Given the description of an element on the screen output the (x, y) to click on. 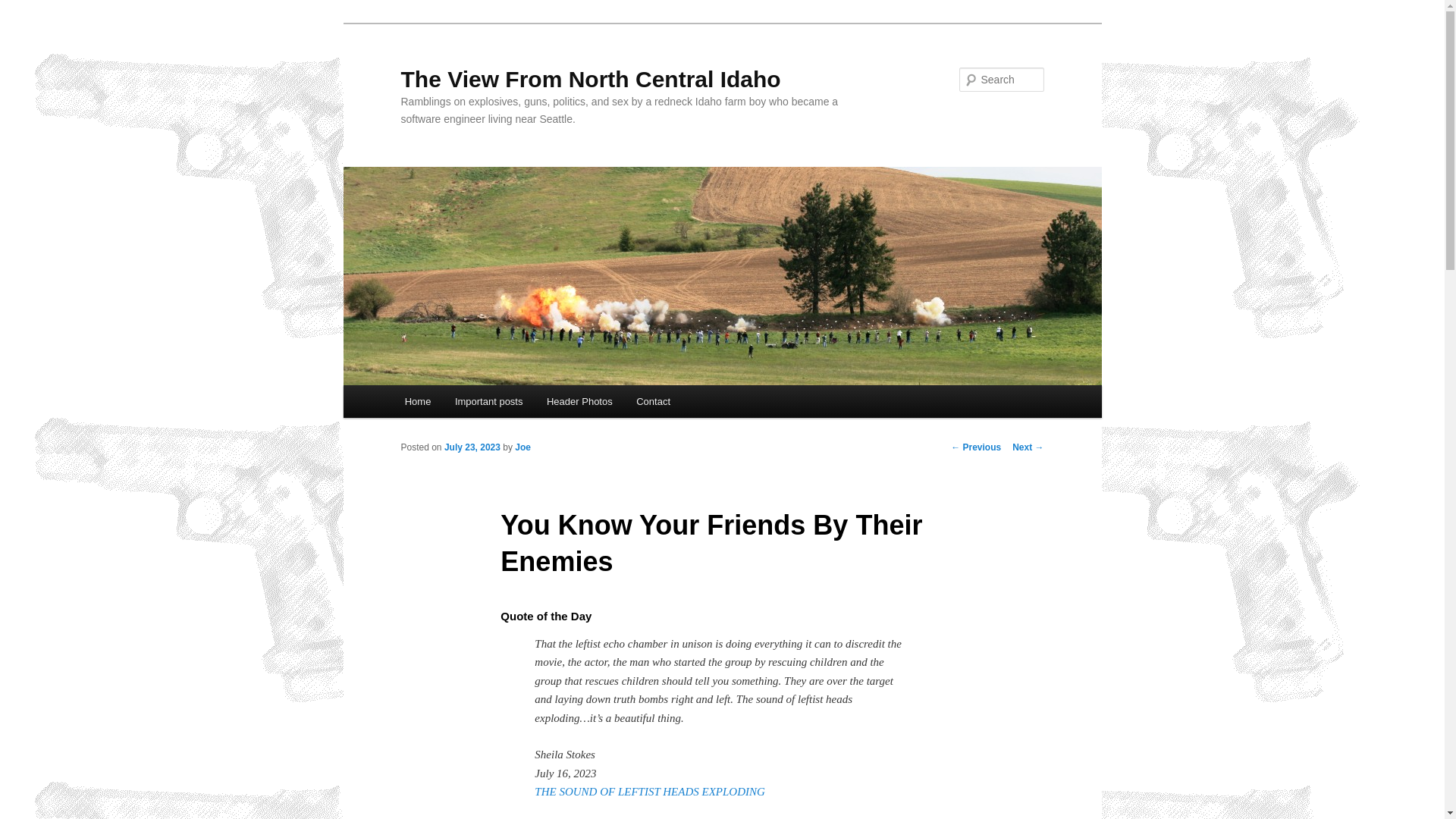
The View From North Central Idaho (590, 78)
View all posts by Joe (523, 447)
Important posts (488, 400)
Joe (523, 447)
Home (417, 400)
Contact (652, 400)
THE SOUND OF LEFTIST HEADS EXPLODING (649, 791)
6:00 am (472, 447)
Header Photos (579, 400)
